Given the description of an element on the screen output the (x, y) to click on. 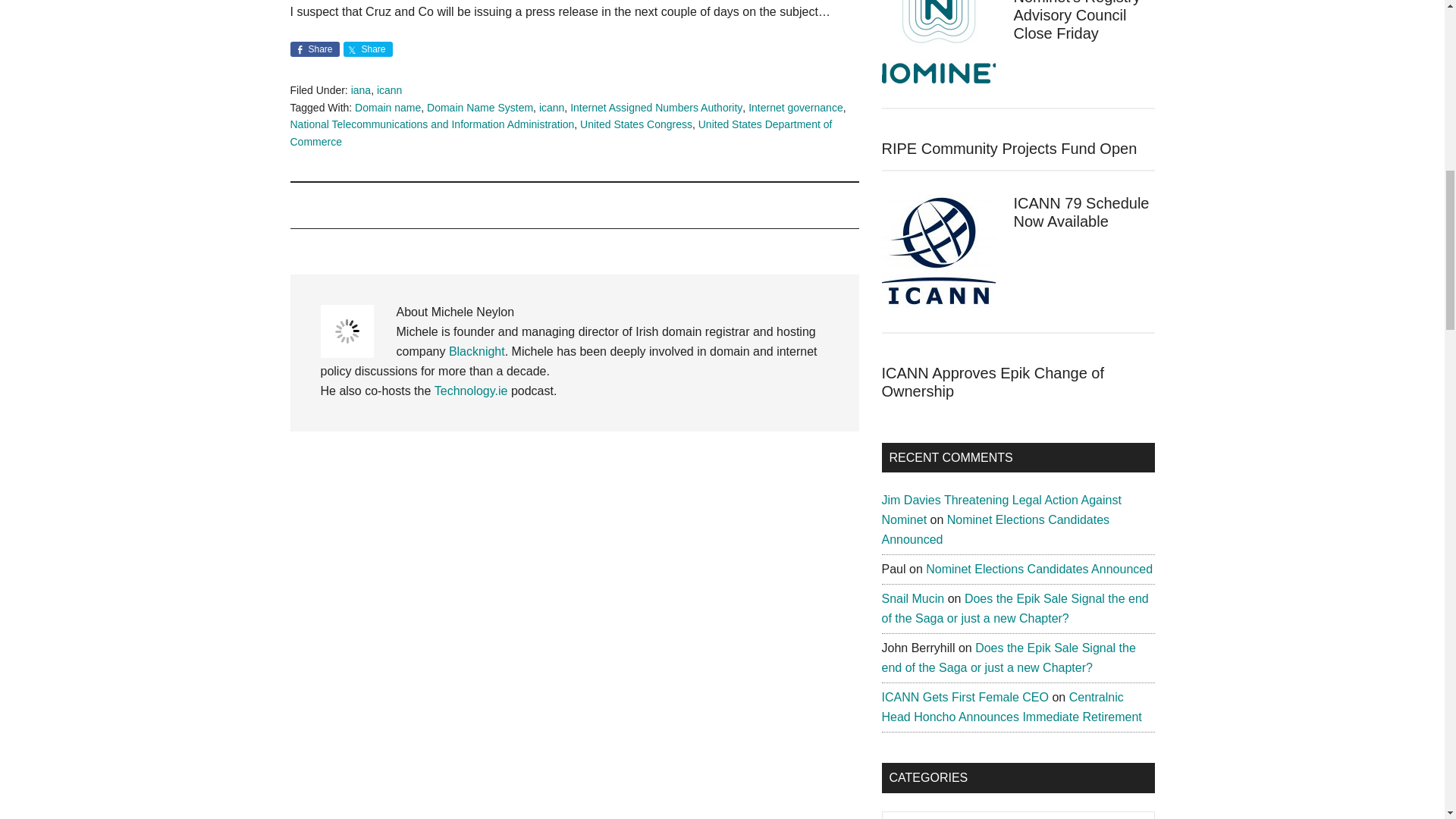
Domain Name System (479, 107)
United States Congress (636, 123)
RIPE Community Projects Fund Open (1008, 148)
Domain name (387, 107)
iana (360, 90)
National Telecommunications and Information Administration (431, 123)
United States Department of Commerce (560, 132)
icann (551, 107)
Share (314, 48)
Internet Assigned Numbers Authority (656, 107)
Technology.ie (470, 390)
Share (366, 48)
Internet governance (795, 107)
Blacknight (476, 350)
icann (389, 90)
